Given the description of an element on the screen output the (x, y) to click on. 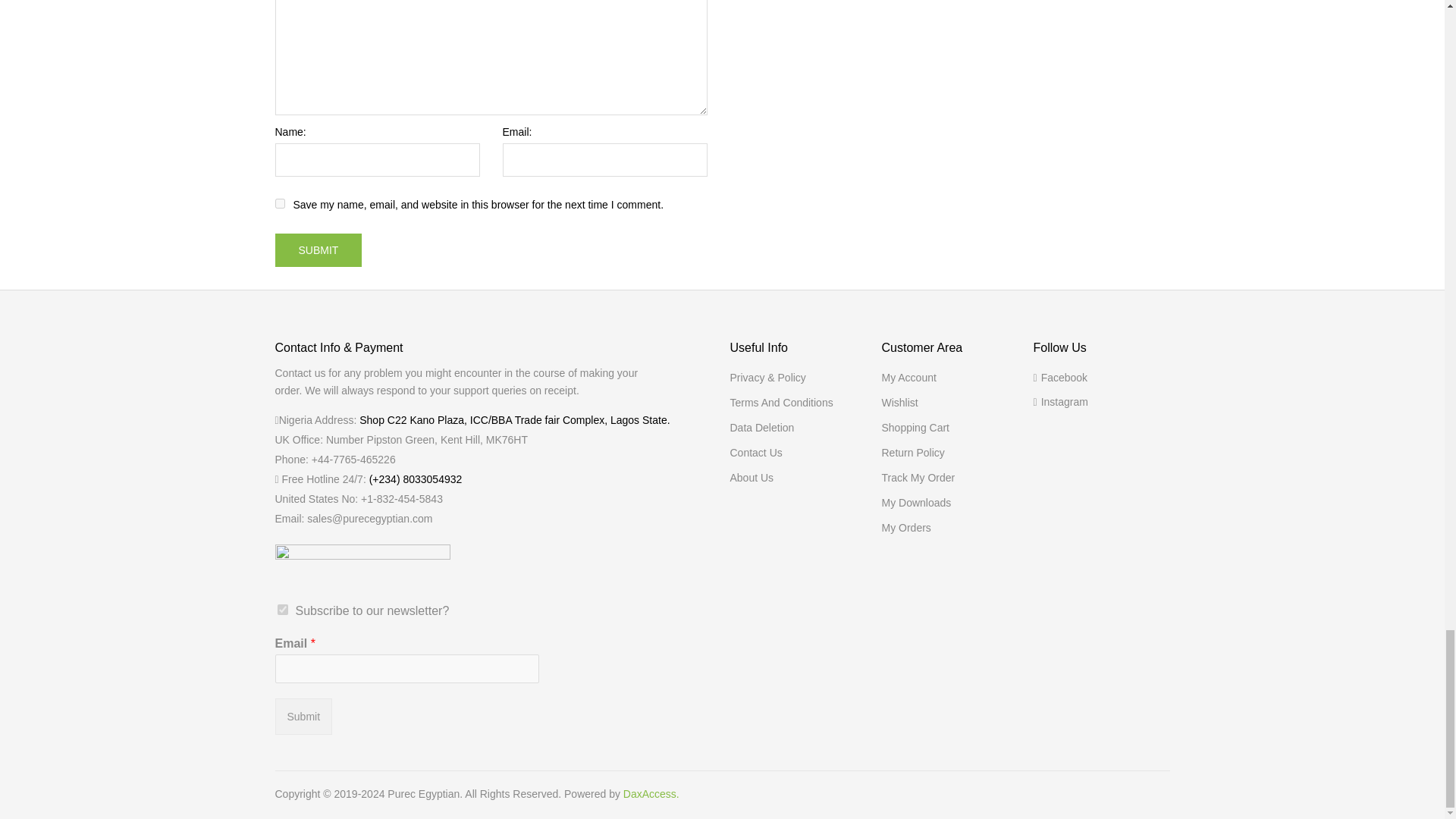
payments (362, 553)
submit (318, 249)
yes (279, 203)
1 (283, 609)
